Given the description of an element on the screen output the (x, y) to click on. 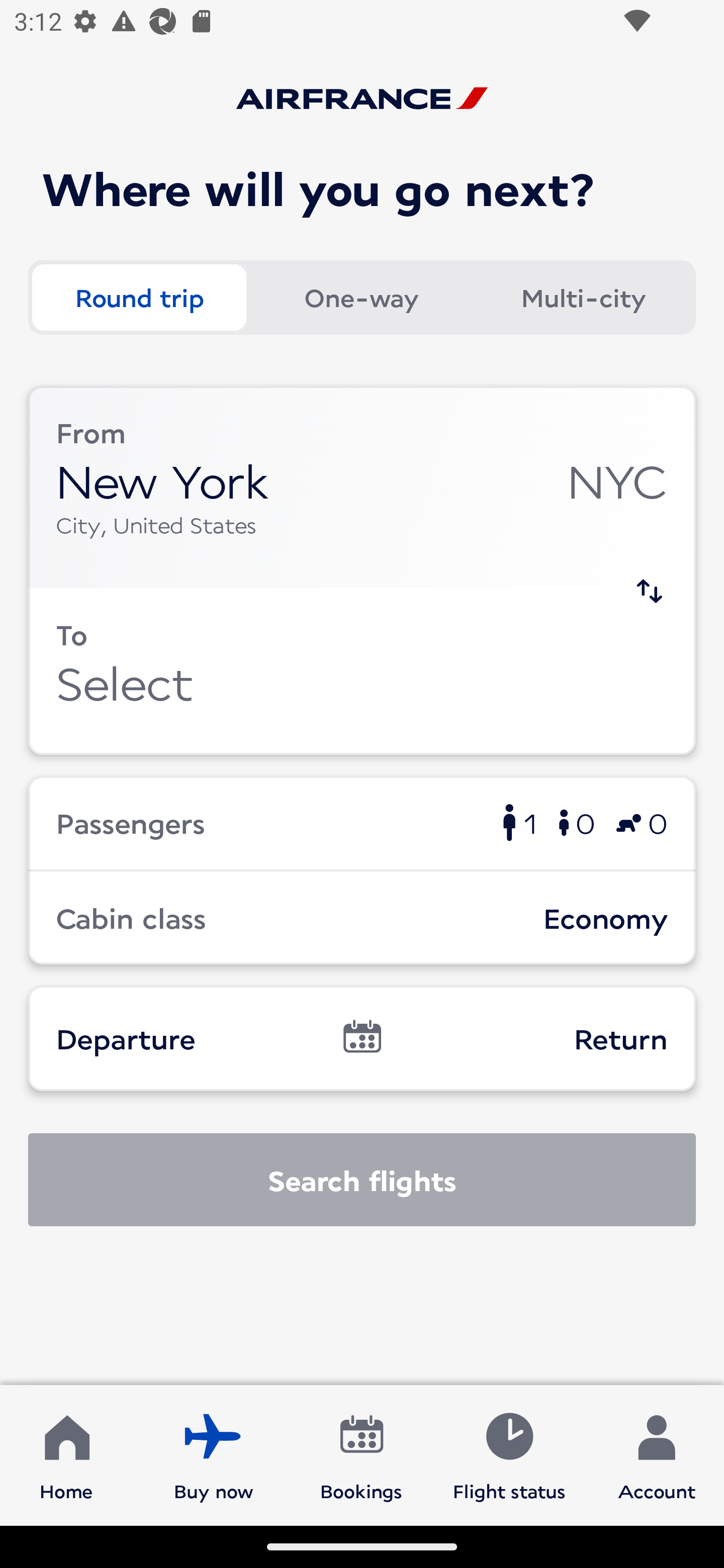
Round trip (139, 297)
One-way (361, 297)
Multi-city (583, 297)
From New York NYC City, United States (361, 486)
To Select (361, 671)
Passengers 1 0 0 (361, 822)
Cabin class Economy (361, 917)
Departure Return (361, 1038)
Search flights (361, 1179)
Home (66, 1454)
Bookings (361, 1454)
Flight status (509, 1454)
Account (657, 1454)
